Given the description of an element on the screen output the (x, y) to click on. 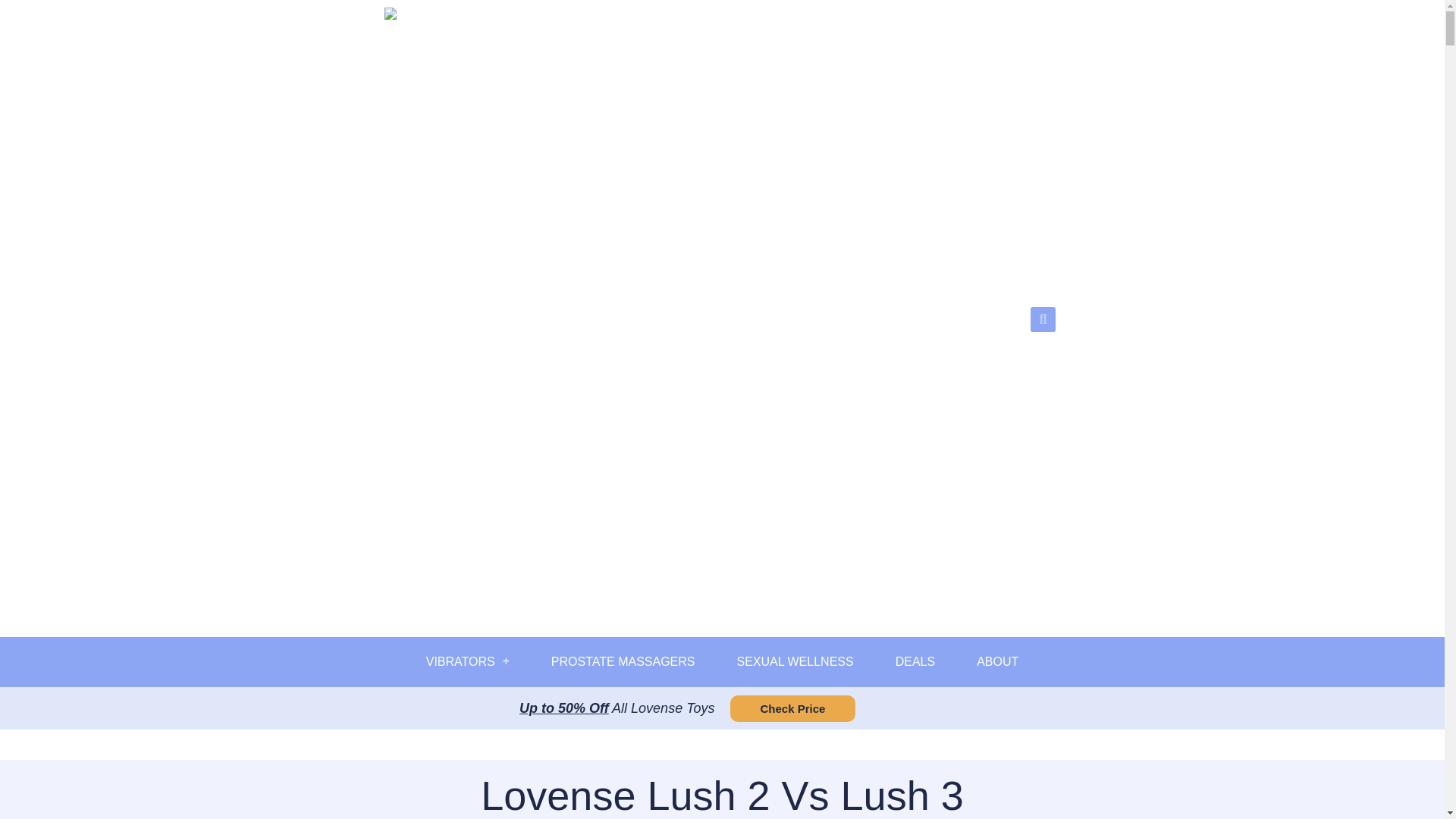
Check Price (792, 708)
PROSTATE MASSAGERS (622, 661)
VIBRATORS (467, 661)
ABOUT (996, 661)
DEALS (915, 661)
SEXUAL WELLNESS (795, 661)
